Given the description of an element on the screen output the (x, y) to click on. 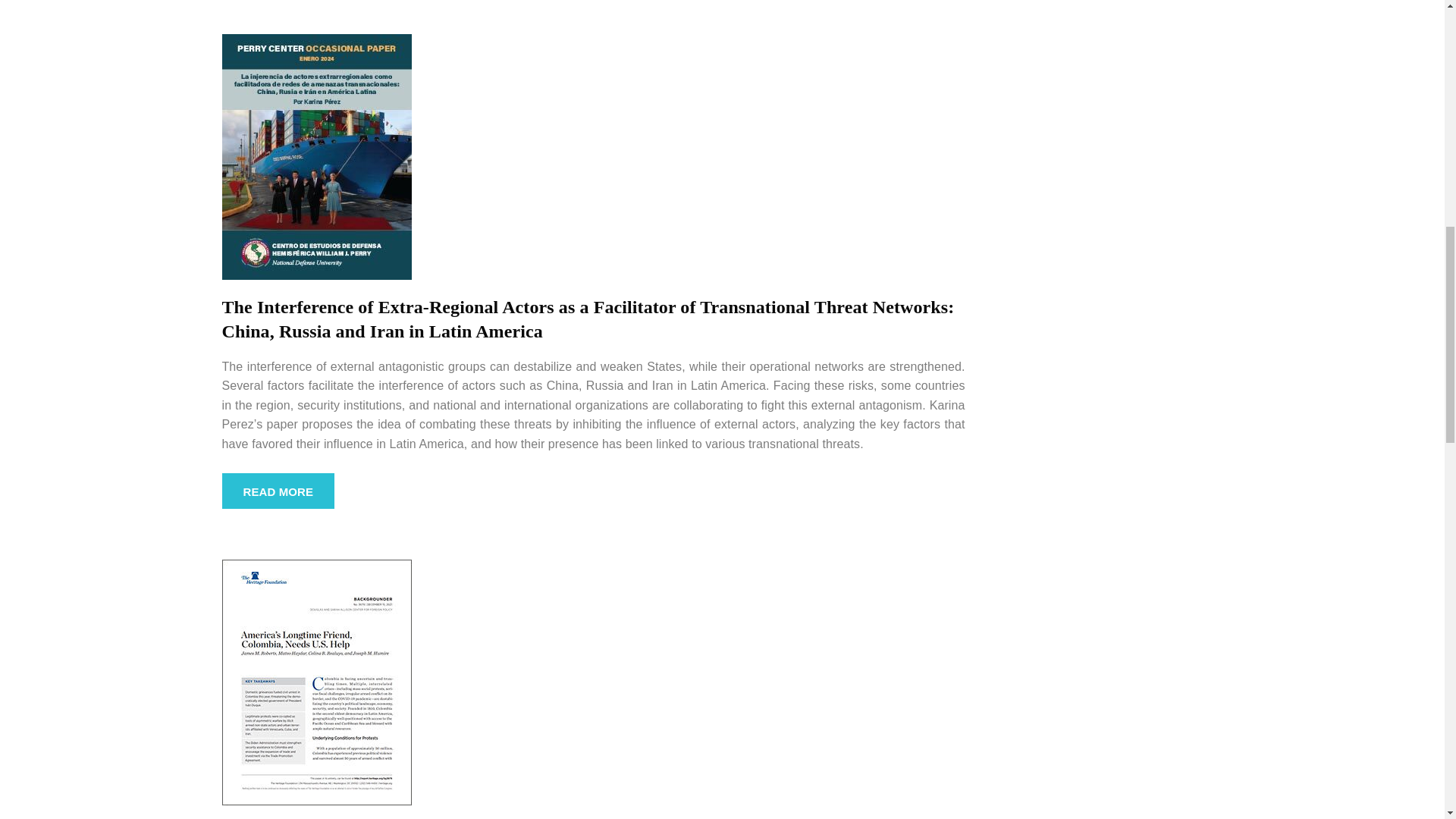
America's Longtime Friend, Colombia, Needs US Help (315, 680)
